Given the description of an element on the screen output the (x, y) to click on. 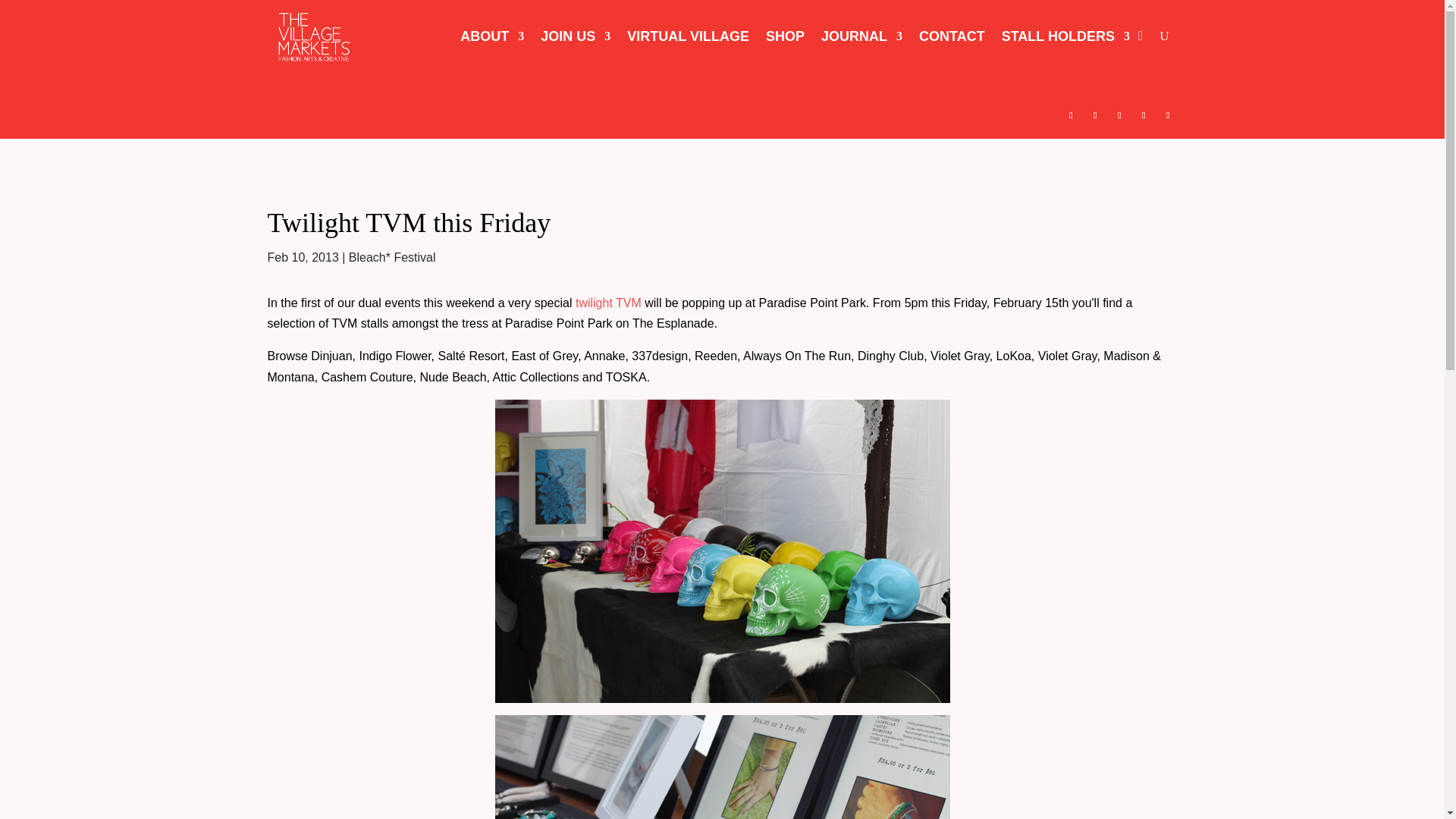
Follow on Youtube (1167, 115)
STALL HOLDERS (1065, 36)
Follow on Facebook (1070, 115)
JOIN US (575, 36)
ABOUT (492, 36)
VIRTUAL VILLAGE (688, 36)
CONTACT (951, 36)
Follow on Instagram (1094, 115)
JOURNAL (861, 36)
Follow on Pinterest (1118, 115)
Follow on Vimeo (1143, 115)
